Given the description of an element on the screen output the (x, y) to click on. 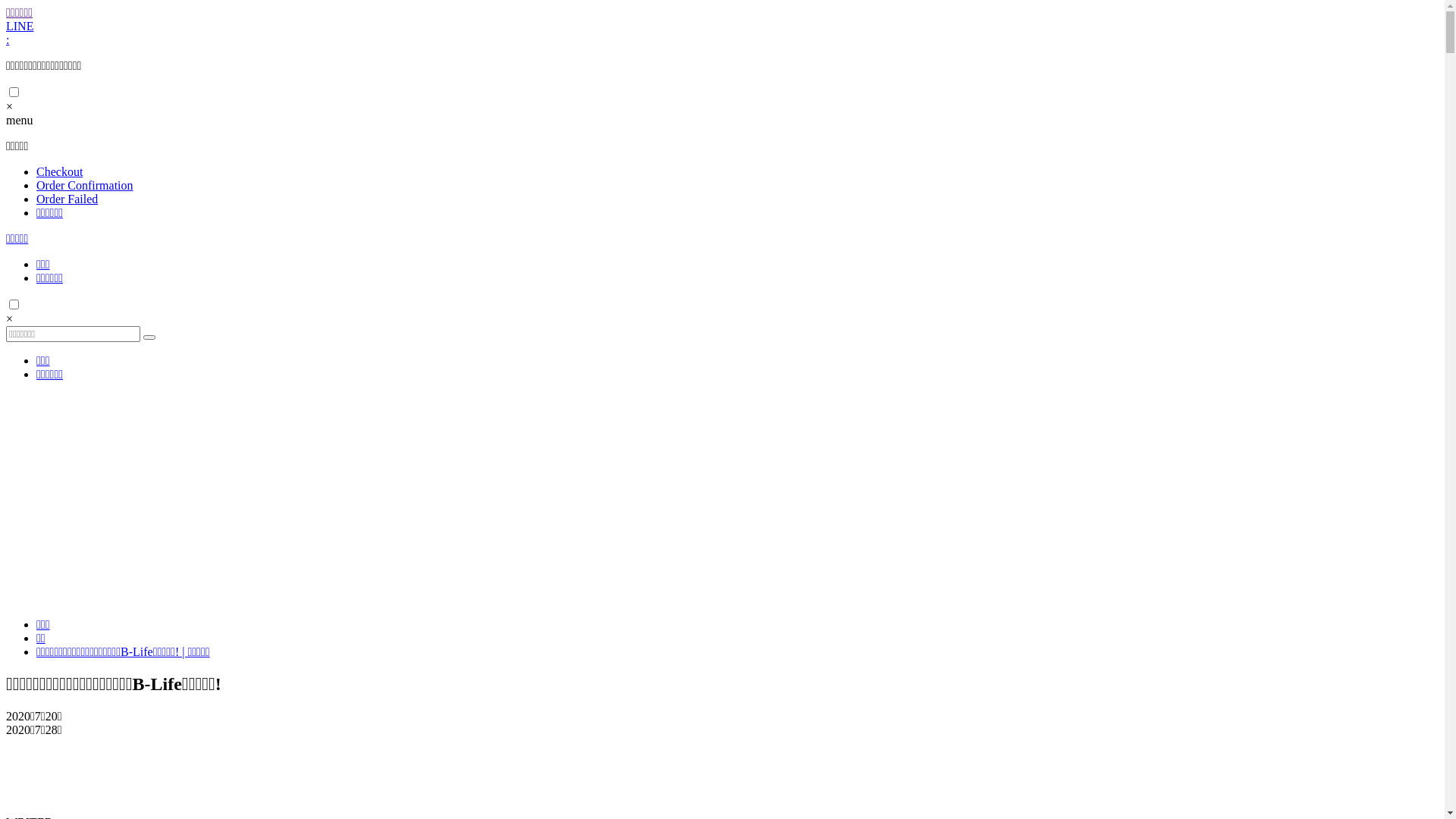
Search Element type: text (149, 337)
LINE Element type: text (19, 25)
Advertisement Element type: hover (721, 499)
: Element type: text (7, 39)
Order Confirmation Element type: text (84, 184)
Checkout Element type: text (59, 171)
Order Failed Element type: text (66, 198)
